Given the description of an element on the screen output the (x, y) to click on. 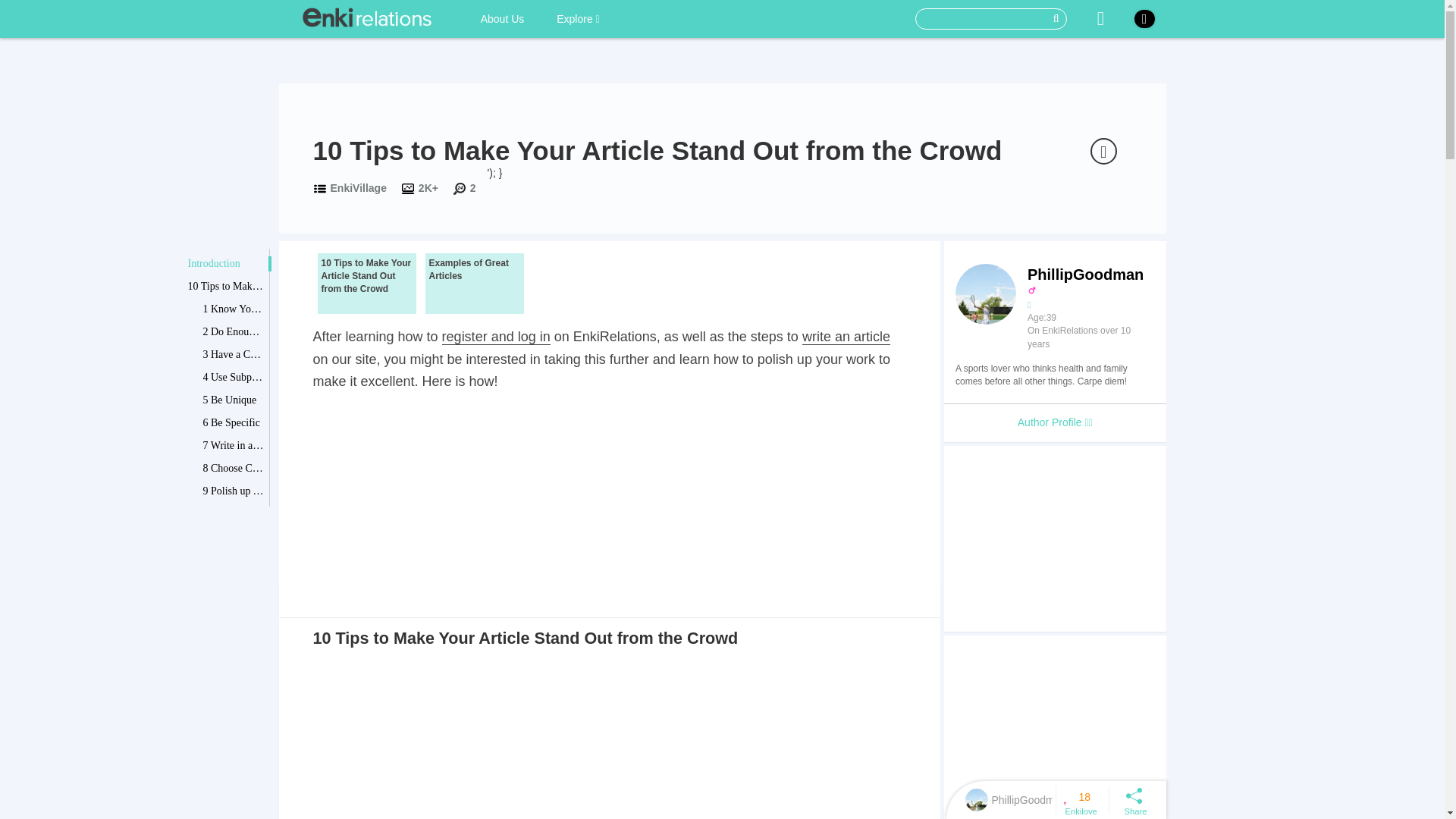
5 Be Unique (233, 400)
Jump to Examples of Great Articles-3 (473, 283)
Explore (577, 18)
PhillipGoodman (1008, 800)
9 Polish up Your Work (233, 491)
6 Be Specific (233, 422)
2 Do Enough Research (233, 331)
Point 1 (233, 559)
Point 5 (233, 650)
register and log in (496, 336)
Advertisement (1054, 727)
Examples of Great Articles (473, 283)
PhillipGoodman (1021, 800)
3 Have a Clear Outline (233, 354)
Point 4 (233, 627)
